Given the description of an element on the screen output the (x, y) to click on. 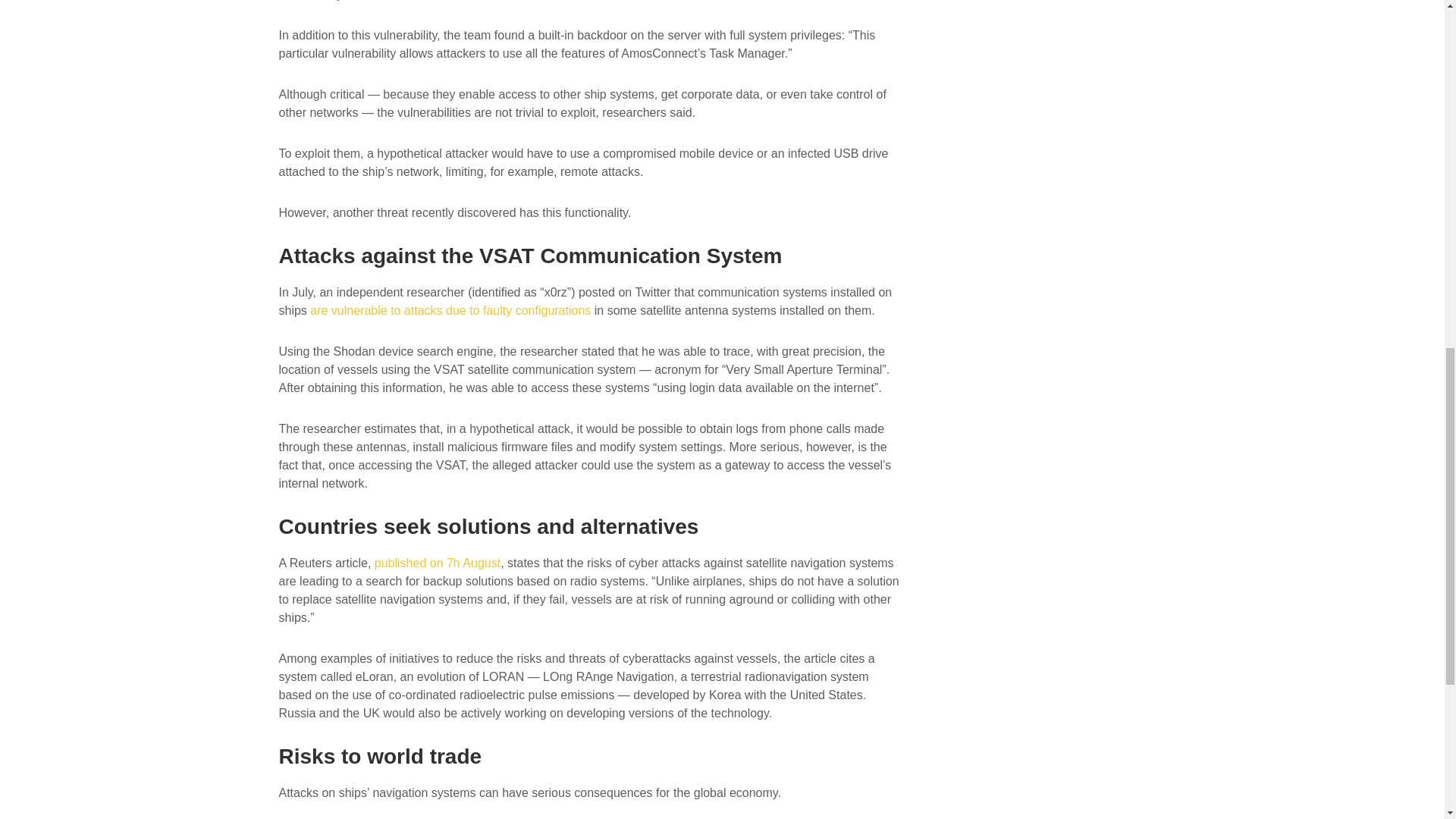
are vulnerable to attacks due to faulty configurations (450, 309)
published on 7h August (437, 562)
